Given the description of an element on the screen output the (x, y) to click on. 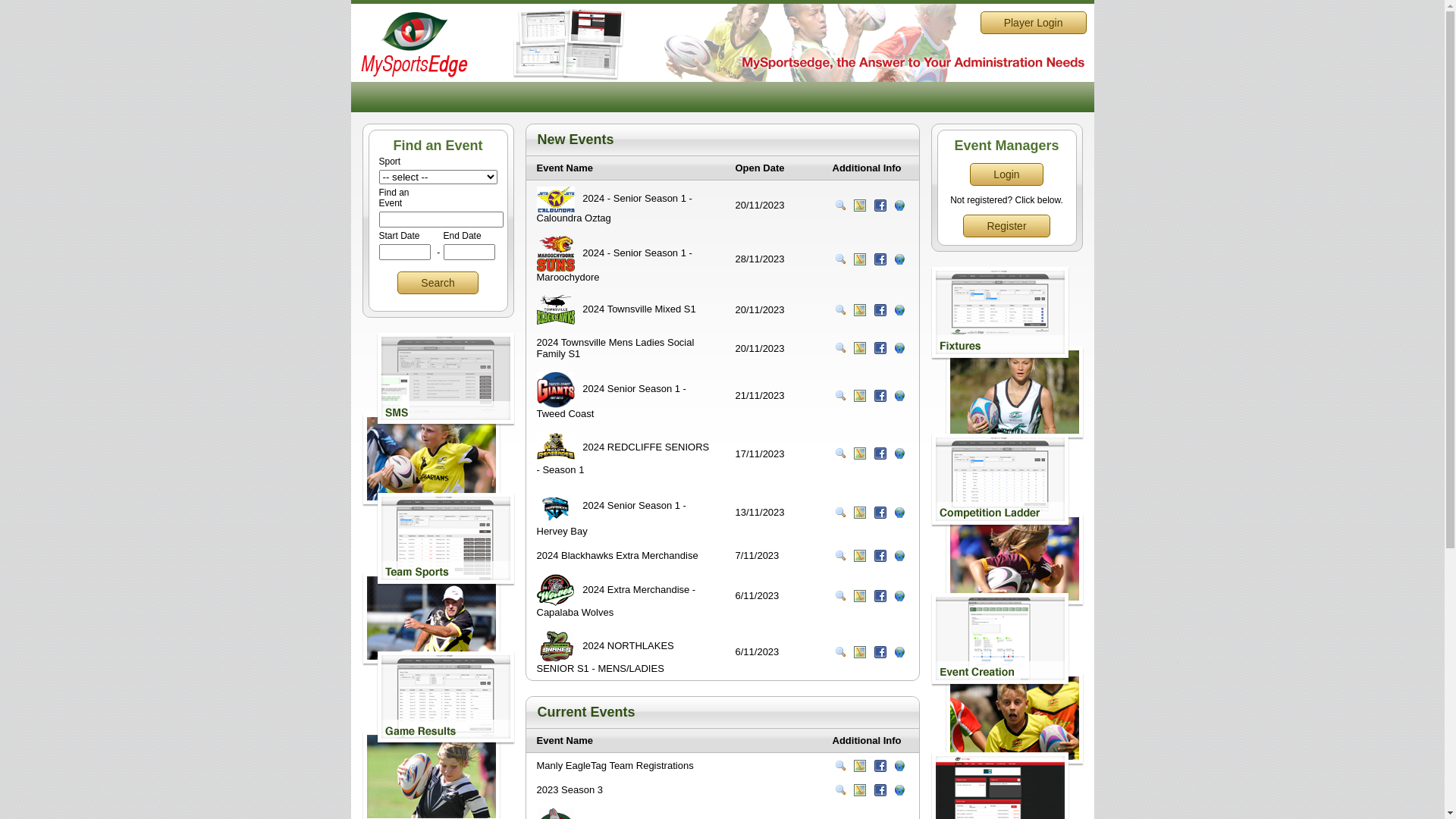
Sign Up Element type: hover (899, 789)
Follow on facebook Element type: hover (880, 310)
Follow on facebook Element type: hover (880, 765)
View Event Information Element type: hover (840, 395)
Player Login Element type: text (1033, 22)
Sign Up Element type: hover (899, 395)
View on Map Element type: hover (859, 765)
View Event Information Element type: hover (840, 765)
View on Map Element type: hover (859, 555)
View Event Information Element type: hover (840, 453)
View Event Information Element type: hover (840, 309)
Sign Up Element type: hover (899, 651)
View on Map Element type: hover (859, 595)
View on Map Element type: hover (859, 652)
Register Element type: text (1006, 225)
Sign Up Element type: hover (899, 453)
View on Map Element type: hover (859, 310)
Follow on facebook Element type: hover (880, 595)
Sign Up Element type: hover (899, 555)
Follow on facebook Element type: hover (880, 652)
Sign Up Element type: hover (899, 765)
Sign Up Element type: hover (899, 512)
View on Map Element type: hover (859, 259)
Follow on facebook Element type: hover (880, 453)
Sign Up Element type: hover (899, 309)
Follow on facebook Element type: hover (880, 512)
View Event Information Element type: hover (840, 555)
Follow on facebook Element type: hover (880, 555)
Follow on facebook Element type: hover (880, 790)
Search Element type: text (437, 282)
Follow on facebook Element type: hover (880, 205)
Sign Up Element type: hover (899, 205)
View on Map Element type: hover (859, 205)
View on Map Element type: hover (859, 348)
Sign Up Element type: hover (899, 259)
View Event Information Element type: hover (840, 205)
View Event Information Element type: hover (840, 347)
View on Map Element type: hover (859, 790)
View Event Information Element type: hover (840, 651)
View on Map Element type: hover (859, 395)
Sign Up Element type: hover (899, 347)
View Event Information Element type: hover (840, 512)
Sign Up Element type: hover (899, 595)
View Event Information Element type: hover (840, 789)
View on Map Element type: hover (859, 512)
View on Map Element type: hover (859, 453)
Follow on facebook Element type: hover (880, 348)
Login Element type: text (1005, 174)
Follow on facebook Element type: hover (880, 395)
View Event Information Element type: hover (840, 259)
Follow on facebook Element type: hover (880, 259)
View Event Information Element type: hover (840, 595)
